Given the description of an element on the screen output the (x, y) to click on. 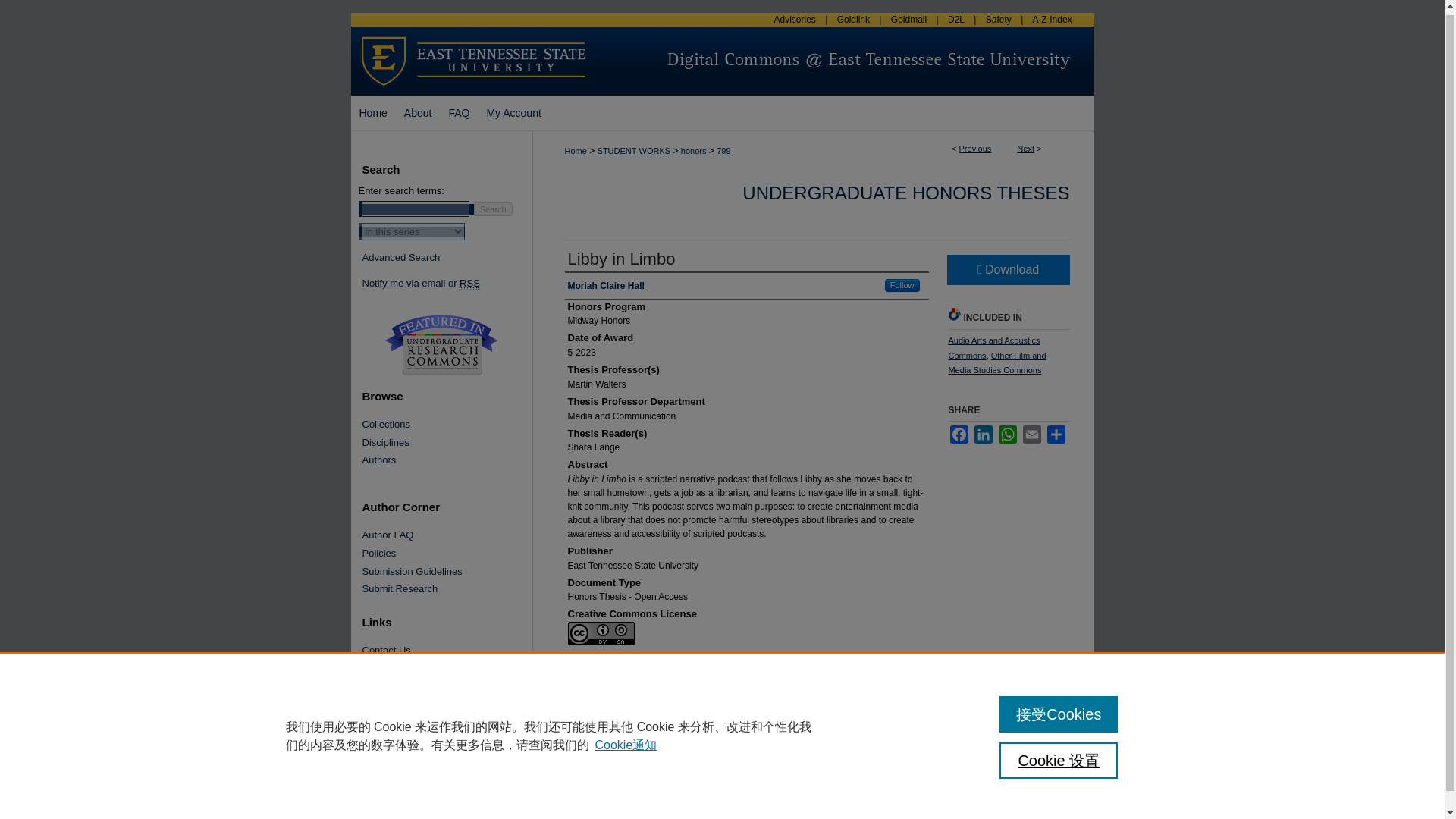
Goldlink (852, 19)
honors (693, 150)
Goldmail (908, 19)
LinkedIn (982, 434)
Home (372, 112)
Goldmail (908, 19)
UNDERGRADUATE HONORS THESES (905, 192)
Advisories (794, 19)
Libby in Limbo (621, 258)
Safety (997, 19)
East Tennessee State University (472, 32)
799 (723, 150)
Follow (902, 285)
Safety (997, 19)
About (418, 112)
